Given the description of an element on the screen output the (x, y) to click on. 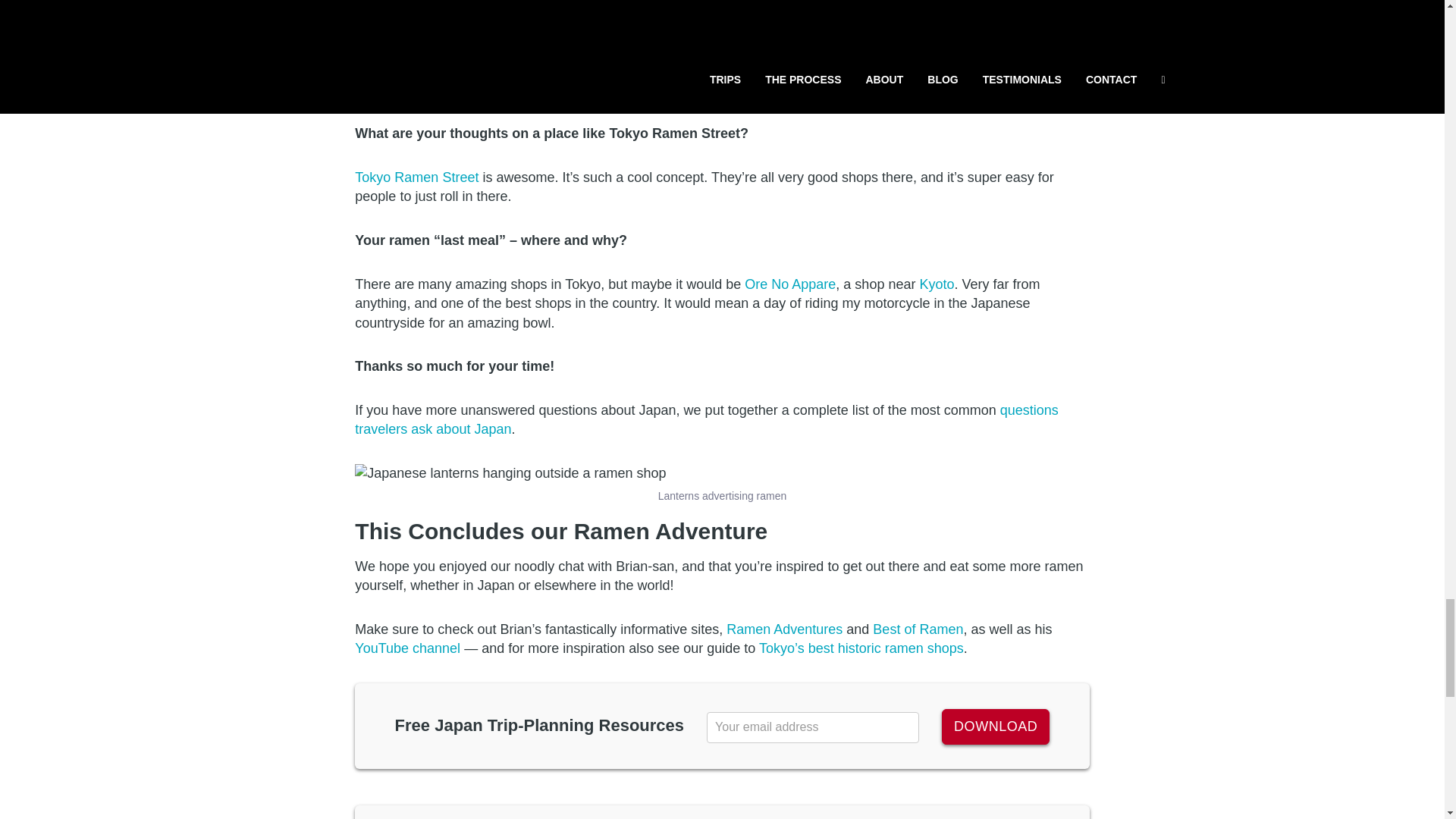
DOWNLOAD (995, 726)
Kyoto (935, 283)
Ramen Adventures (784, 629)
Ore No Appare (789, 283)
YouTube channel (407, 648)
Tokyo Ramen Street (417, 177)
Best of Ramen (917, 629)
questions travelers ask about Japan (706, 419)
